Given the description of an element on the screen output the (x, y) to click on. 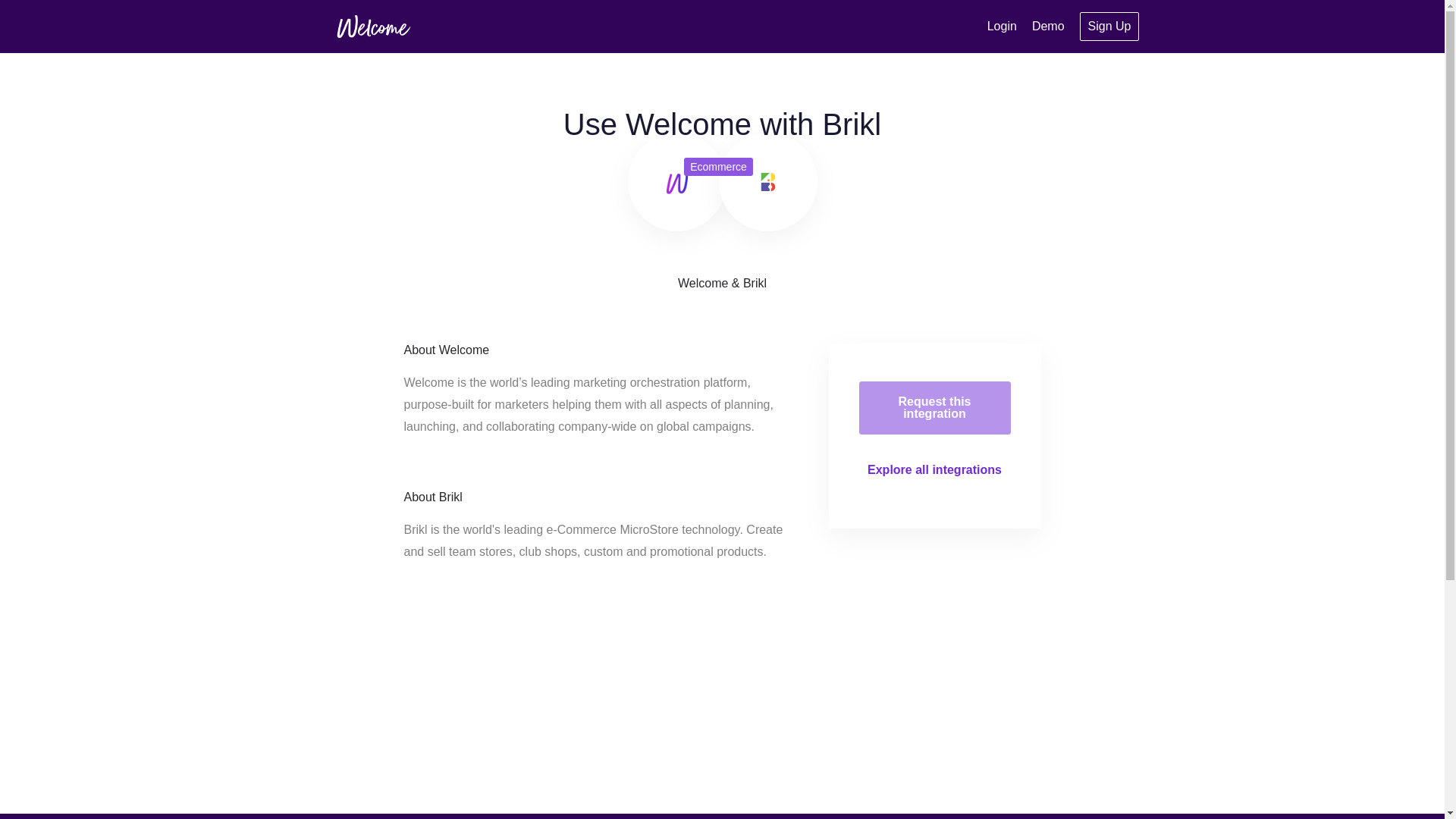
Request this integration (934, 407)
Login (1001, 25)
Brikl (768, 181)
Welcome (372, 26)
Welcome (676, 181)
Explore all integrations (934, 469)
Demo (1048, 25)
Sign Up (1110, 26)
